Given the description of an element on the screen output the (x, y) to click on. 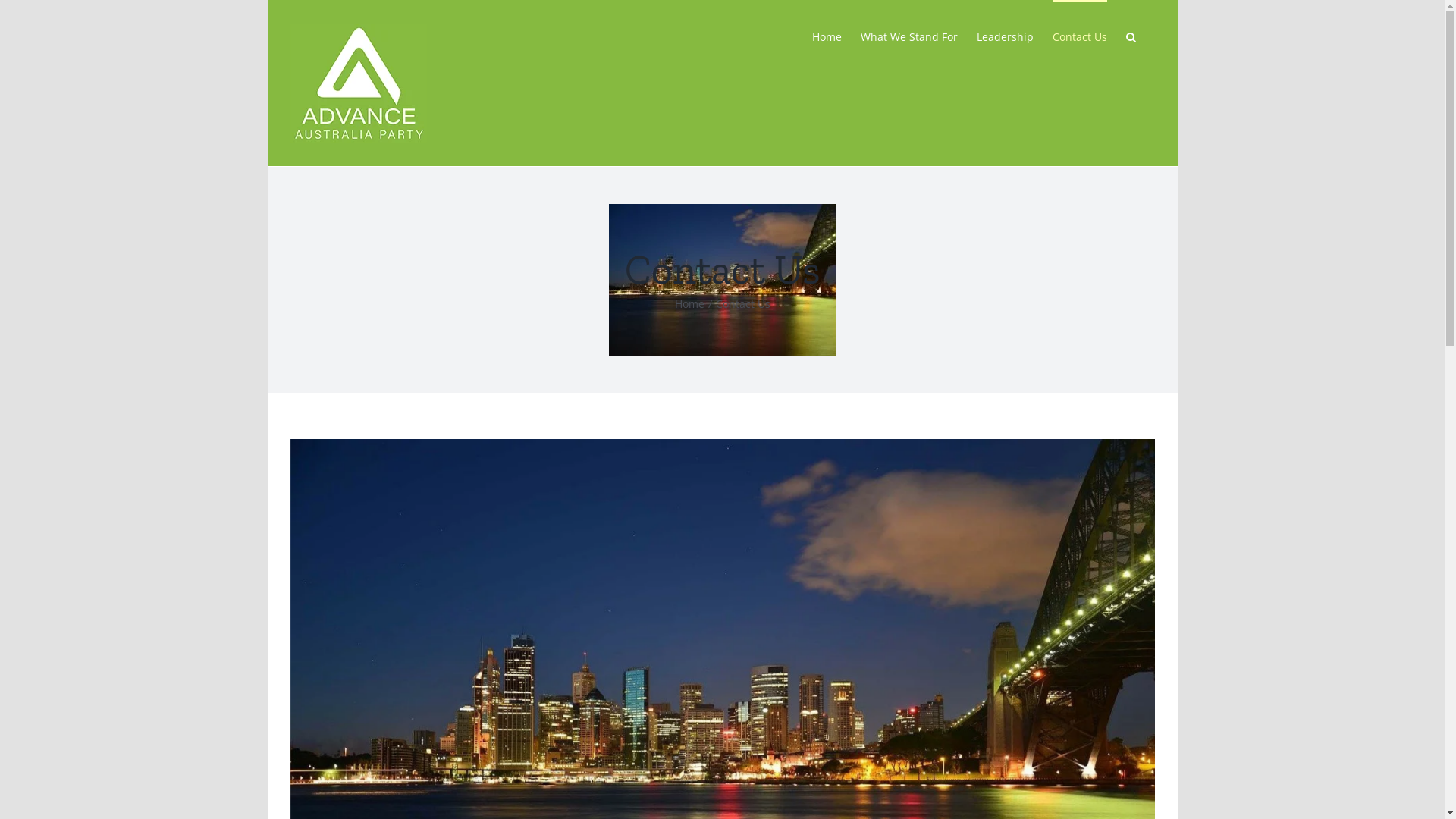
Home Element type: text (825, 35)
Home Element type: text (689, 303)
Search Element type: hover (1130, 35)
Contact Us Element type: text (1079, 35)
Leadership Element type: text (1004, 35)
What We Stand For Element type: text (908, 35)
